Given the description of an element on the screen output the (x, y) to click on. 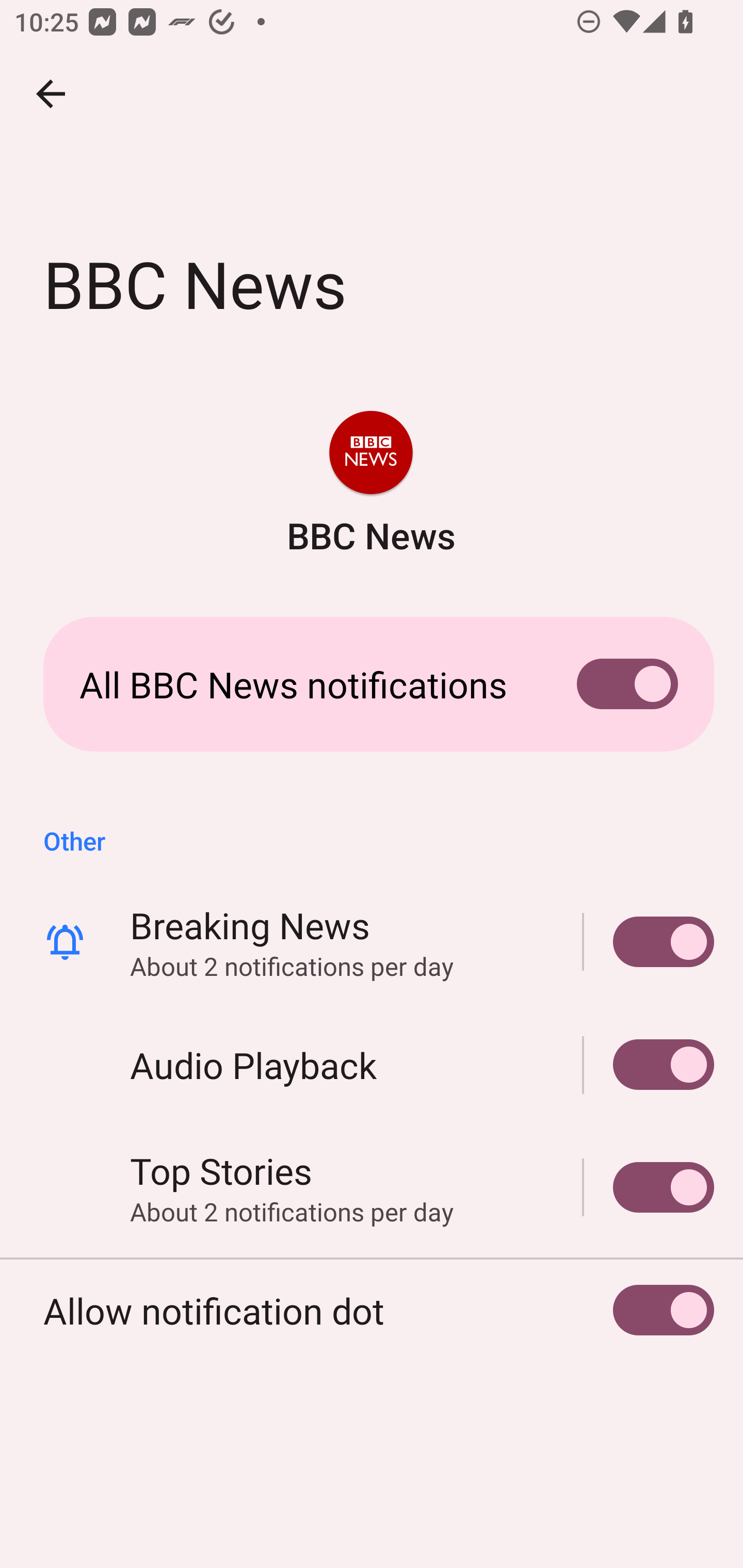
Navigate up (50, 93)
BBC News (370, 484)
All BBC News notifications (371, 684)
Breaking News (648, 941)
Audio Playback (371, 1064)
Audio Playback (648, 1064)
Top Stories (648, 1187)
Allow notification dot (371, 1309)
